Given the description of an element on the screen output the (x, y) to click on. 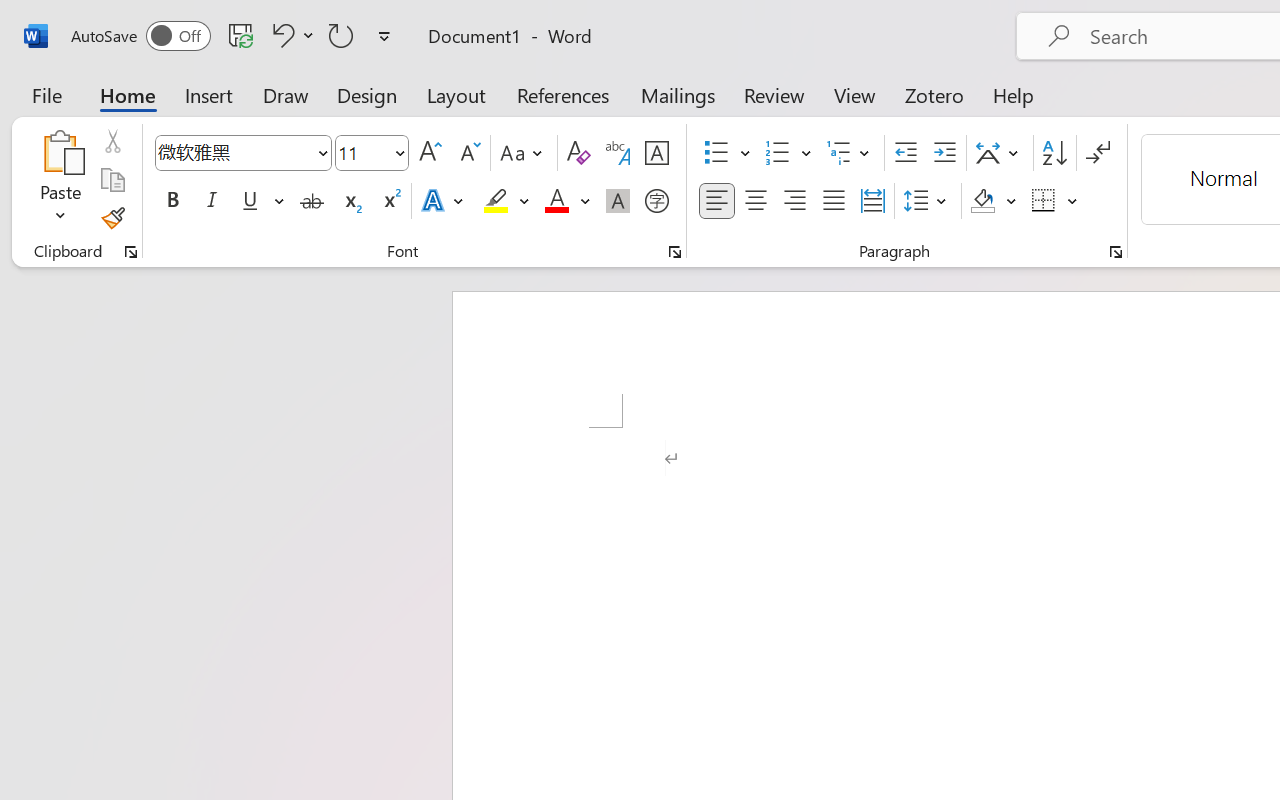
Undo <ApplyStyleToDoc>b__0 (280, 35)
